Given the description of an element on the screen output the (x, y) to click on. 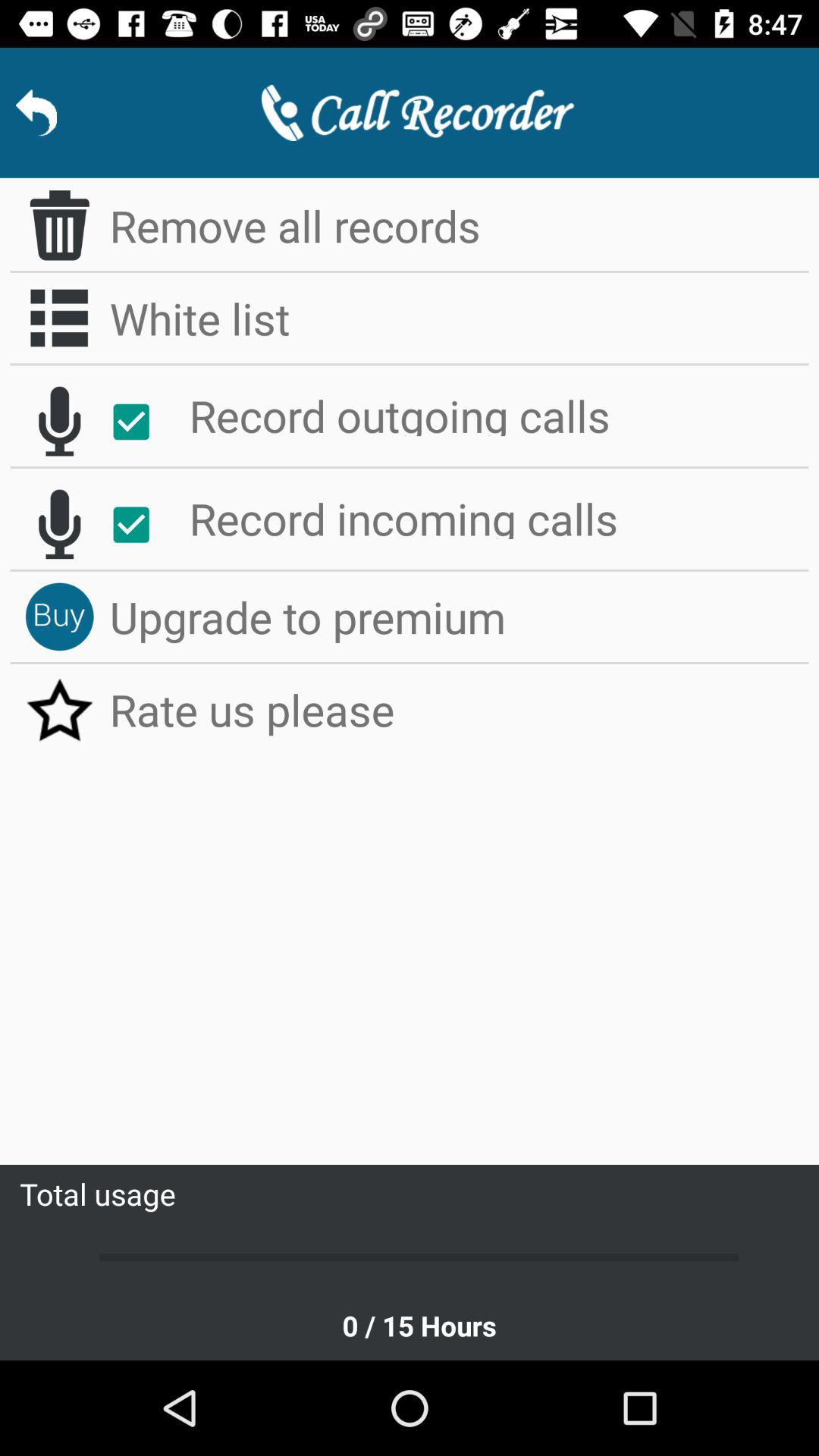
jump to white list icon (459, 318)
